Given the description of an element on the screen output the (x, y) to click on. 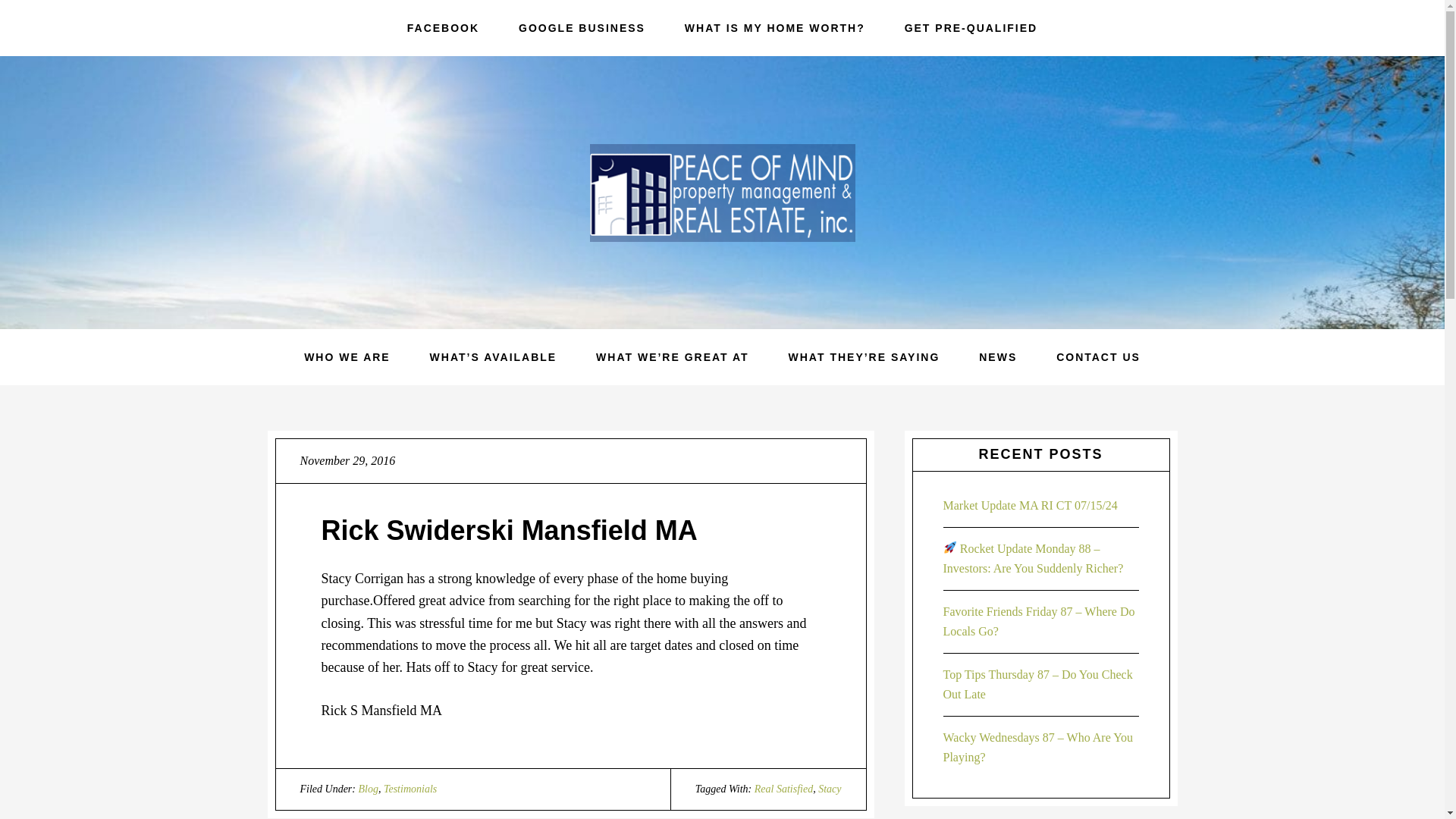
NEWS (997, 356)
WHO WE ARE (347, 356)
GOOGLE BUSINESS (581, 28)
FACEBOOK (442, 28)
WHAT IS MY HOME WORTH? (774, 28)
GET PRE-QUALIFIED (971, 28)
